Given the description of an element on the screen output the (x, y) to click on. 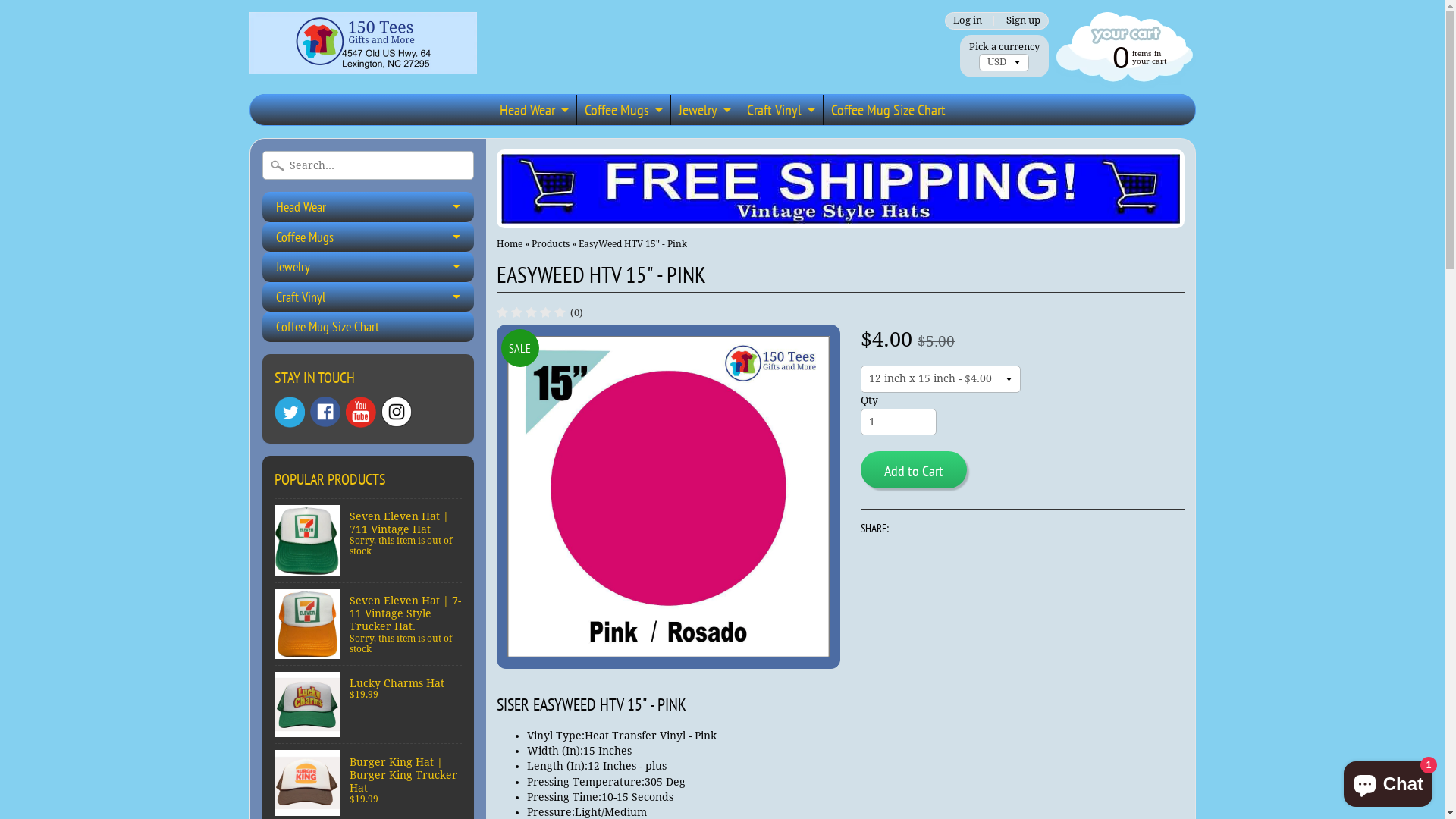
Coffee Mug Size Chart Element type: text (368, 326)
Coffee Mugs Element type: text (621, 109)
Coffee Mug Size Chart Element type: text (888, 109)
Facebook Element type: hover (324, 411)
Shopify online store chat Element type: hover (1388, 780)
Home Element type: text (509, 243)
Add to Cart Element type: text (913, 469)
Coffee Mugs Element type: text (368, 237)
Head Wear Element type: text (368, 206)
Craft Vinyl Element type: text (368, 297)
Craft Vinyl Element type: text (778, 109)
Products Element type: text (550, 243)
Twitter Element type: hover (289, 411)
Log in Element type: text (966, 20)
0
items in your cart Element type: text (1122, 56)
Youtube Element type: hover (360, 411)
Head Wear Element type: text (532, 109)
Jewelry Element type: text (368, 266)
Lucky Charms Hat
$19.99 Element type: text (368, 704)
Jewelry Element type: text (702, 109)
Instagram Element type: hover (395, 411)
Sign up Element type: text (1022, 20)
SALE Element type: text (668, 496)
150 TEES GIFTS & MORE Element type: hover (362, 52)
